Given the description of an element on the screen output the (x, y) to click on. 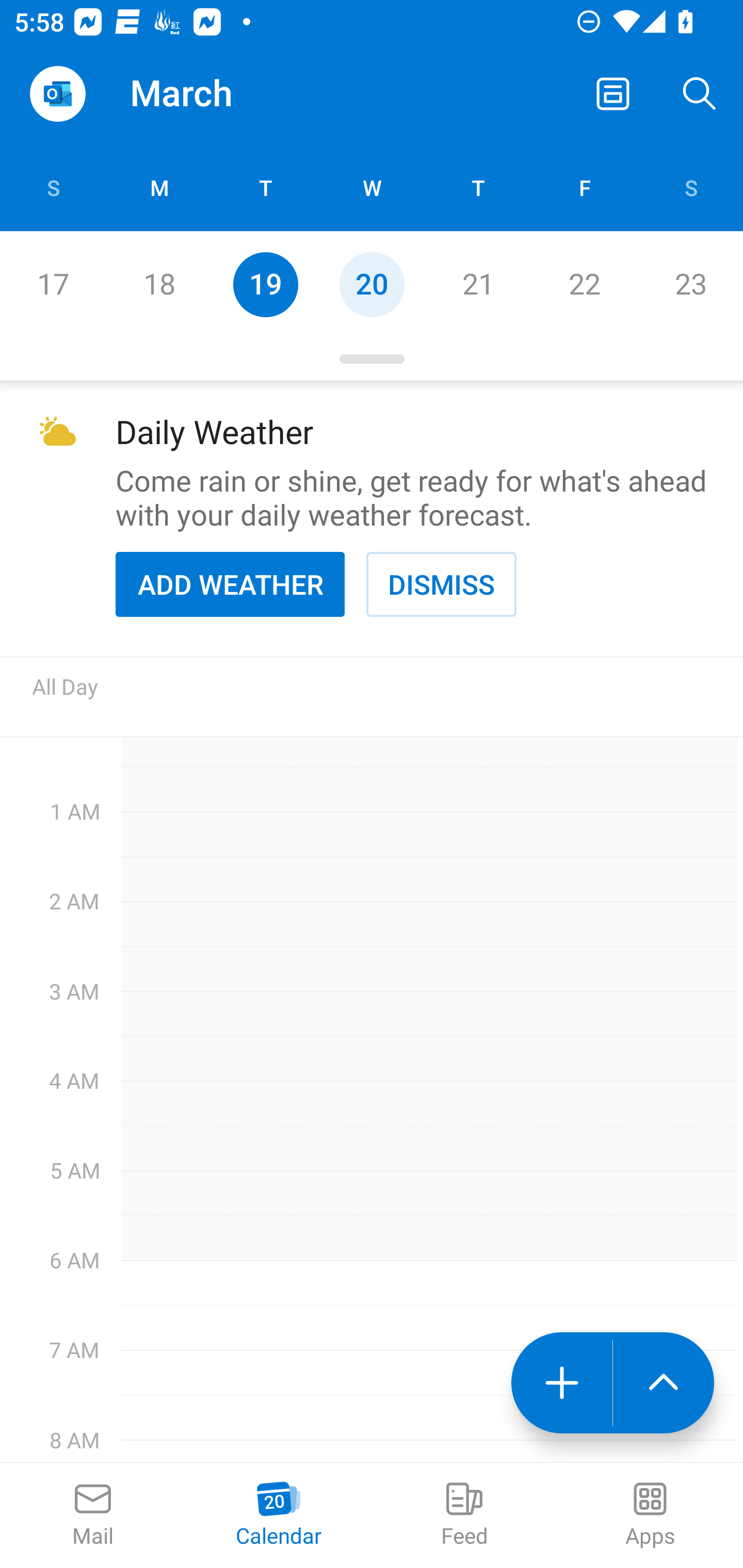
March March 2024, day picker (209, 93)
Switch away from Day view (612, 93)
Search, ,  (699, 93)
Open Navigation Drawer (57, 94)
17 Sunday, March 17 (53, 284)
18 Monday, March 18 (159, 284)
19 Tuesday, March 19, Selected (265, 284)
20 Wednesday, March 20, today (371, 284)
21 Thursday, March 21 (477, 284)
22 Friday, March 22 (584, 284)
23 Saturday, March 23 (690, 284)
Day picker (371, 359)
ADD WEATHER (230, 583)
DISMISS (440, 583)
New event (561, 1382)
launch the extended action menu (663, 1382)
Mail (92, 1515)
Feed (464, 1515)
Apps (650, 1515)
